Given the description of an element on the screen output the (x, y) to click on. 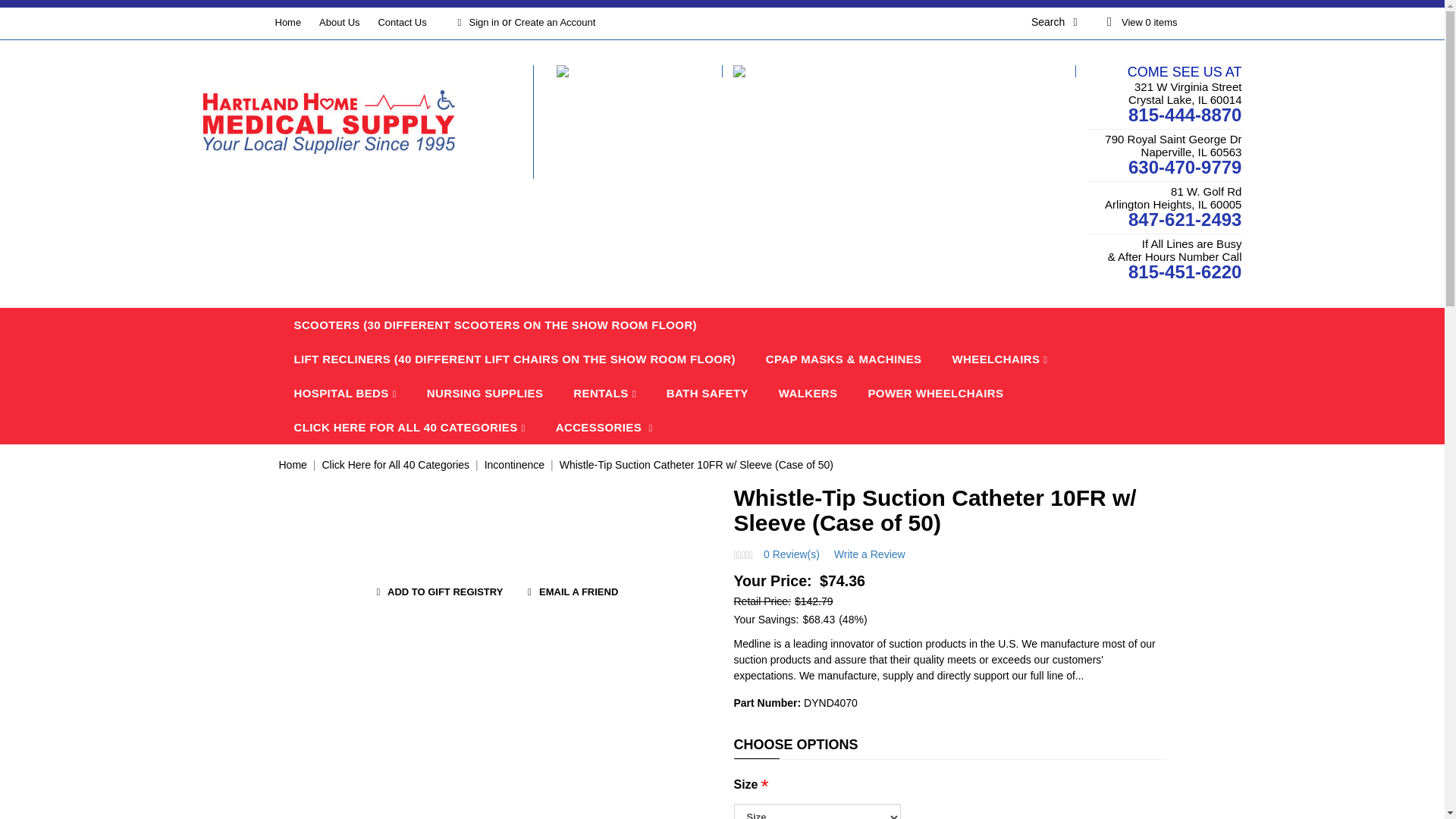
WHEELCHAIRS (999, 358)
815-444-8870 (1184, 114)
847-621-2493 (1184, 219)
BATH SAFETY (706, 392)
815-451-6220 (1184, 271)
Create an Account (554, 21)
630-470-9779 (1184, 167)
About Us (338, 21)
Contact Us (401, 21)
NURSING SUPPLIES (485, 392)
View 0 items (1138, 21)
Search (1063, 21)
HOSPITAL BEDS (345, 392)
RENTALS (603, 392)
Home (288, 21)
